Given the description of an element on the screen output the (x, y) to click on. 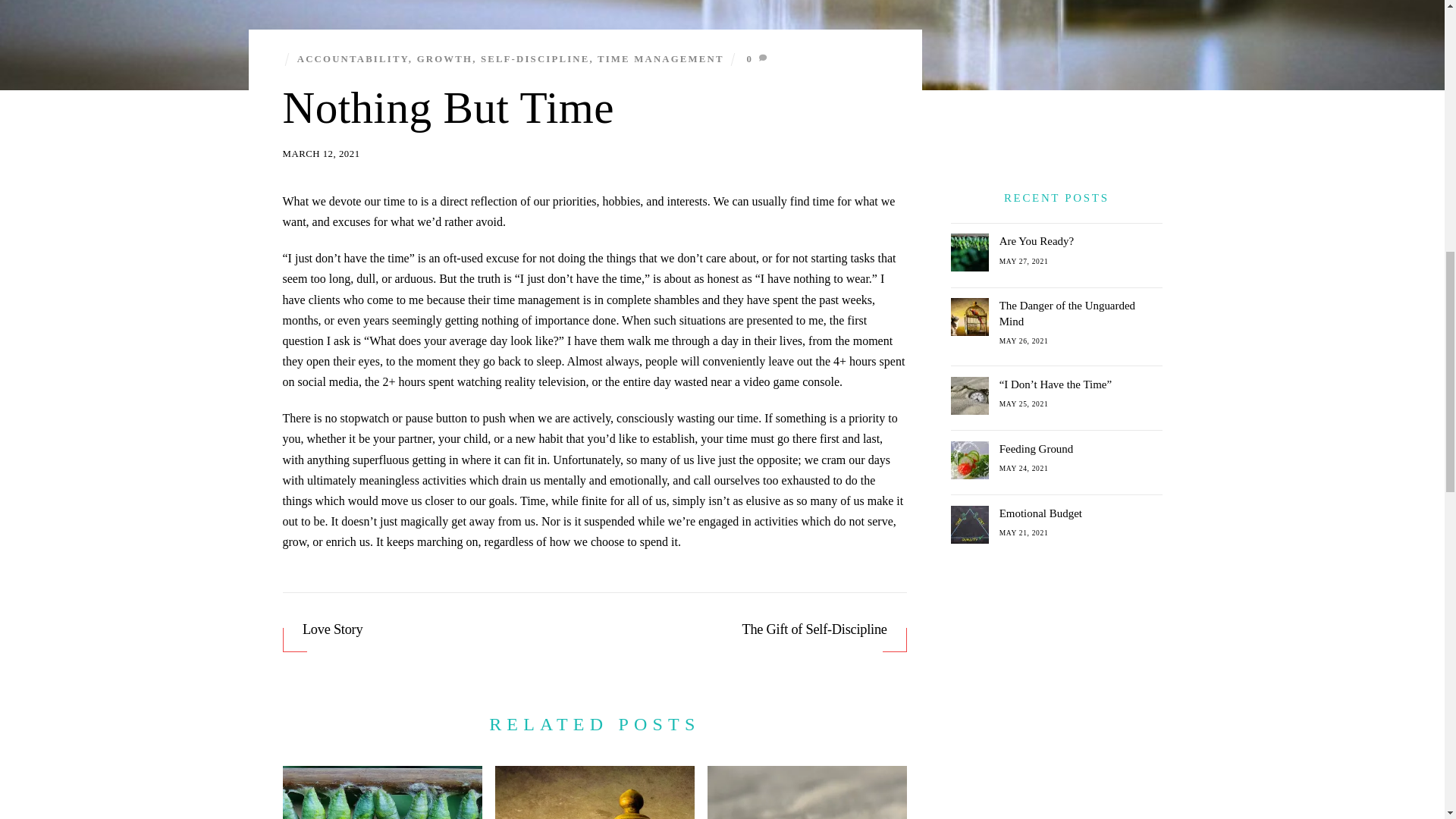
Nothing But Time (448, 107)
The Gift of Self-Discipline (749, 629)
ACCOUNTABILITY (353, 58)
SELF-DISCIPLINE (534, 58)
Love Story (439, 629)
GROWTH (444, 58)
TIME MANAGEMENT (659, 58)
